Given the description of an element on the screen output the (x, y) to click on. 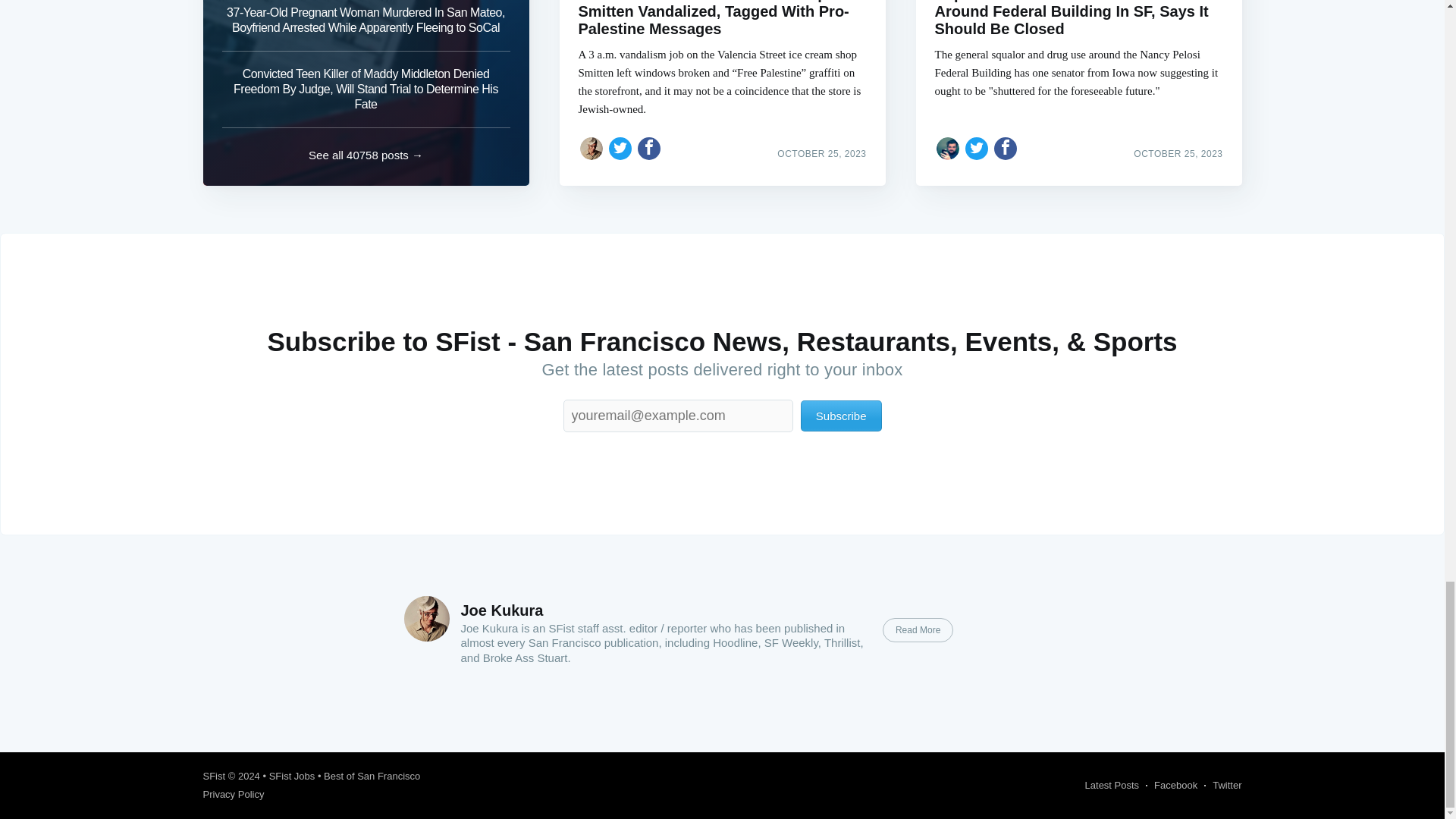
Share on Facebook (1004, 148)
Share on Twitter (976, 148)
Share on Facebook (649, 148)
Share on Twitter (620, 148)
